Given the description of an element on the screen output the (x, y) to click on. 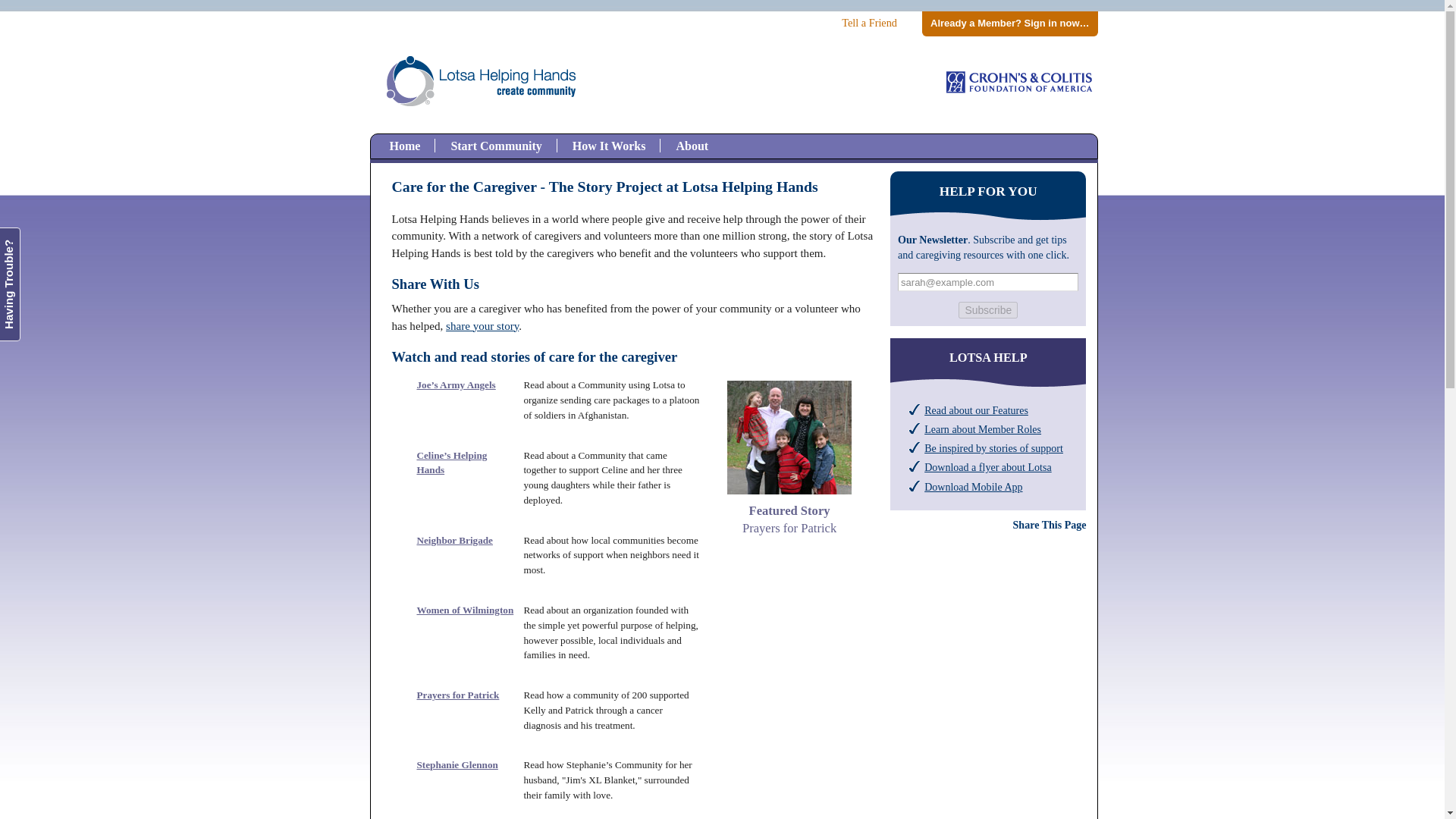
Women of Wilmington (464, 609)
Be inspired by stories of support (993, 448)
Read about our Features (975, 410)
Start Community (789, 510)
share your story (495, 146)
Subscribe (481, 326)
Prayers for Patrick (987, 310)
Stephanie Glennon (457, 695)
Our Newsletter (456, 764)
Home (933, 239)
How It Works (404, 146)
Learn about Member Roles (609, 146)
Neighbor Brigade (982, 428)
About (454, 540)
